Given the description of an element on the screen output the (x, y) to click on. 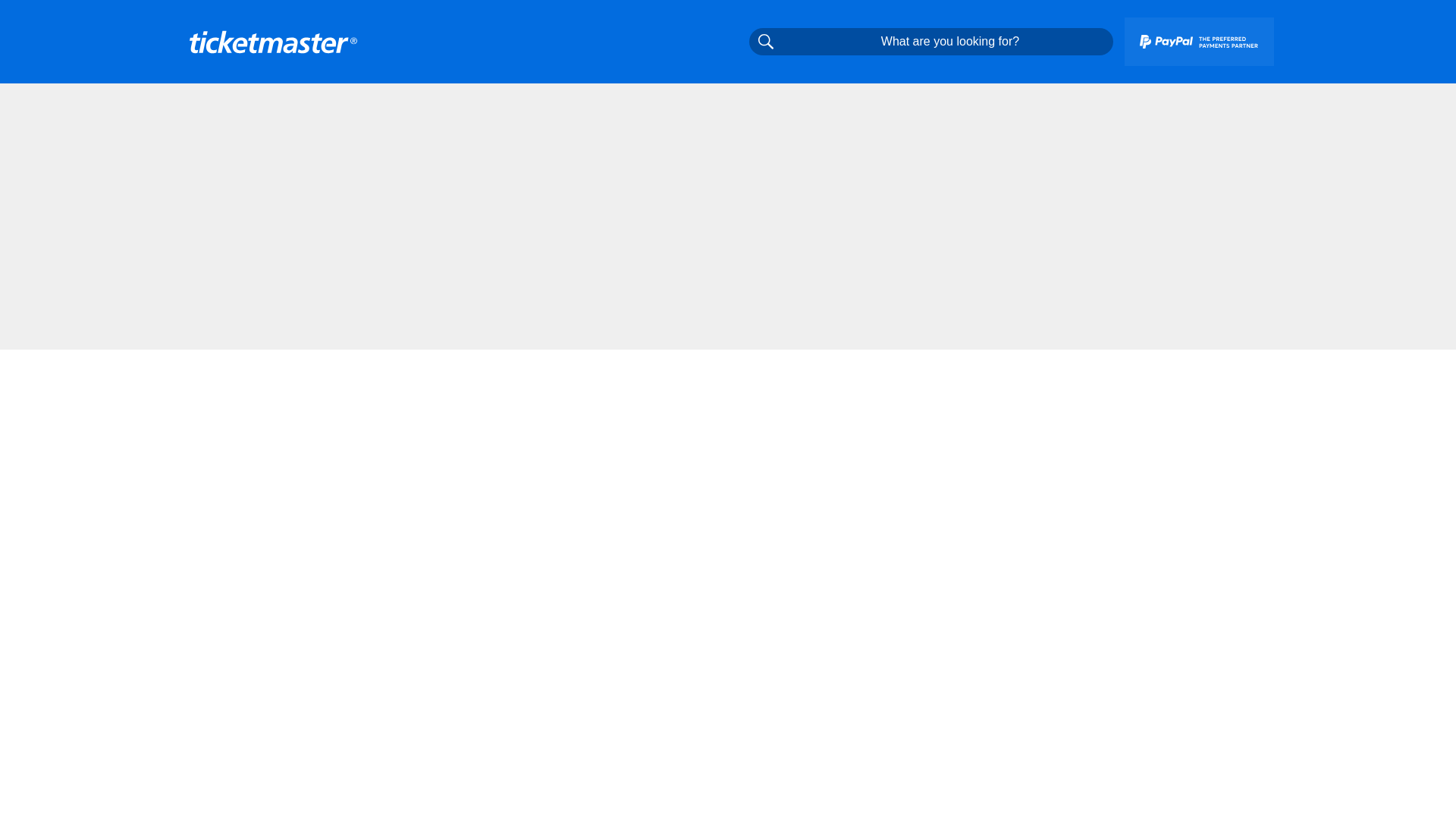
What are you looking for? (765, 41)
What are you looking for? (931, 41)
What are you looking for? (931, 41)
What are you looking for? (931, 41)
